Given the description of an element on the screen output the (x, y) to click on. 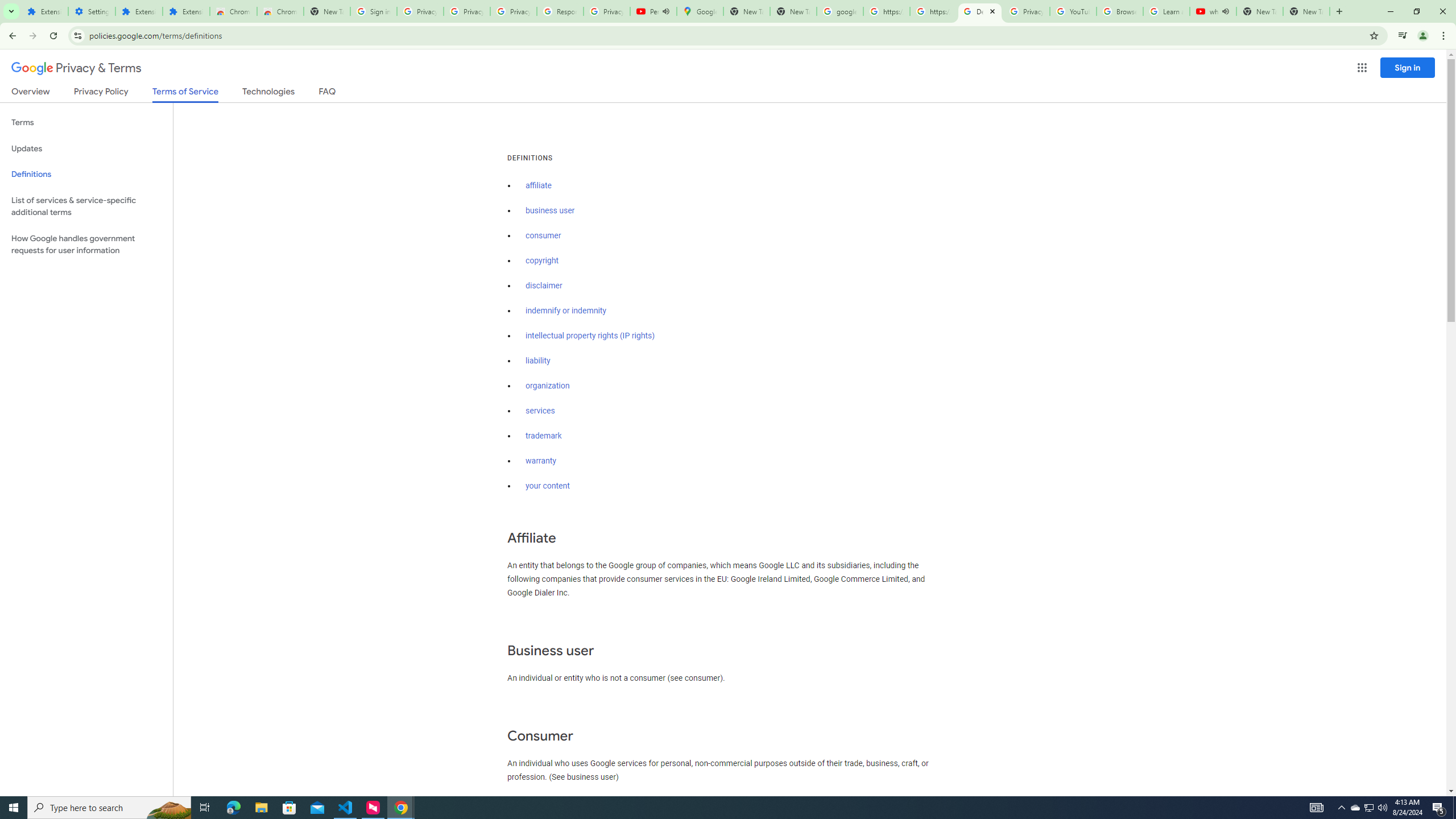
trademark (543, 435)
Extensions (138, 11)
business user (550, 210)
https://scholar.google.com/ (933, 11)
Chrome Web Store - Themes (279, 11)
